Given the description of an element on the screen output the (x, y) to click on. 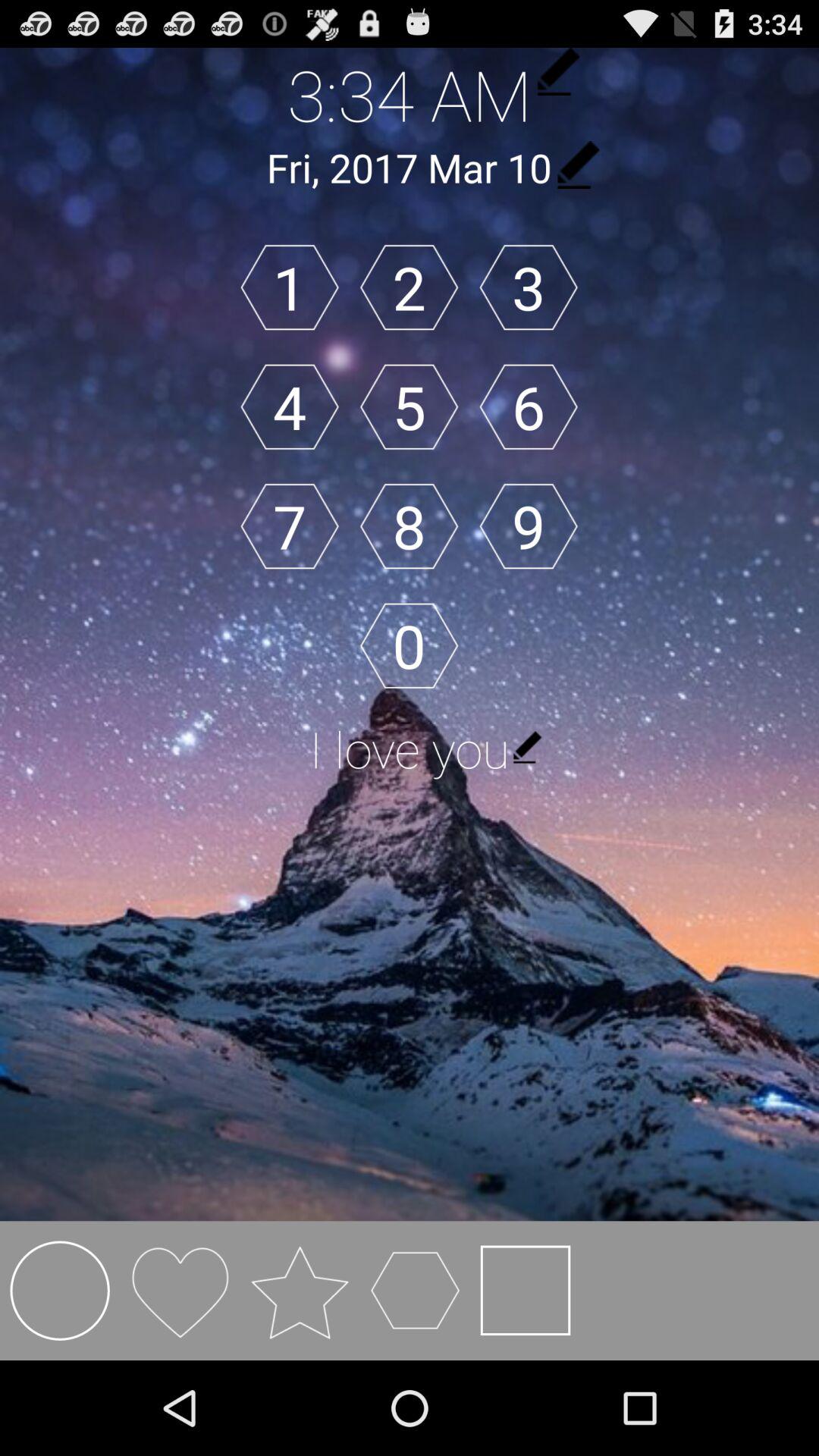
scroll to 7 icon (289, 526)
